Given the description of an element on the screen output the (x, y) to click on. 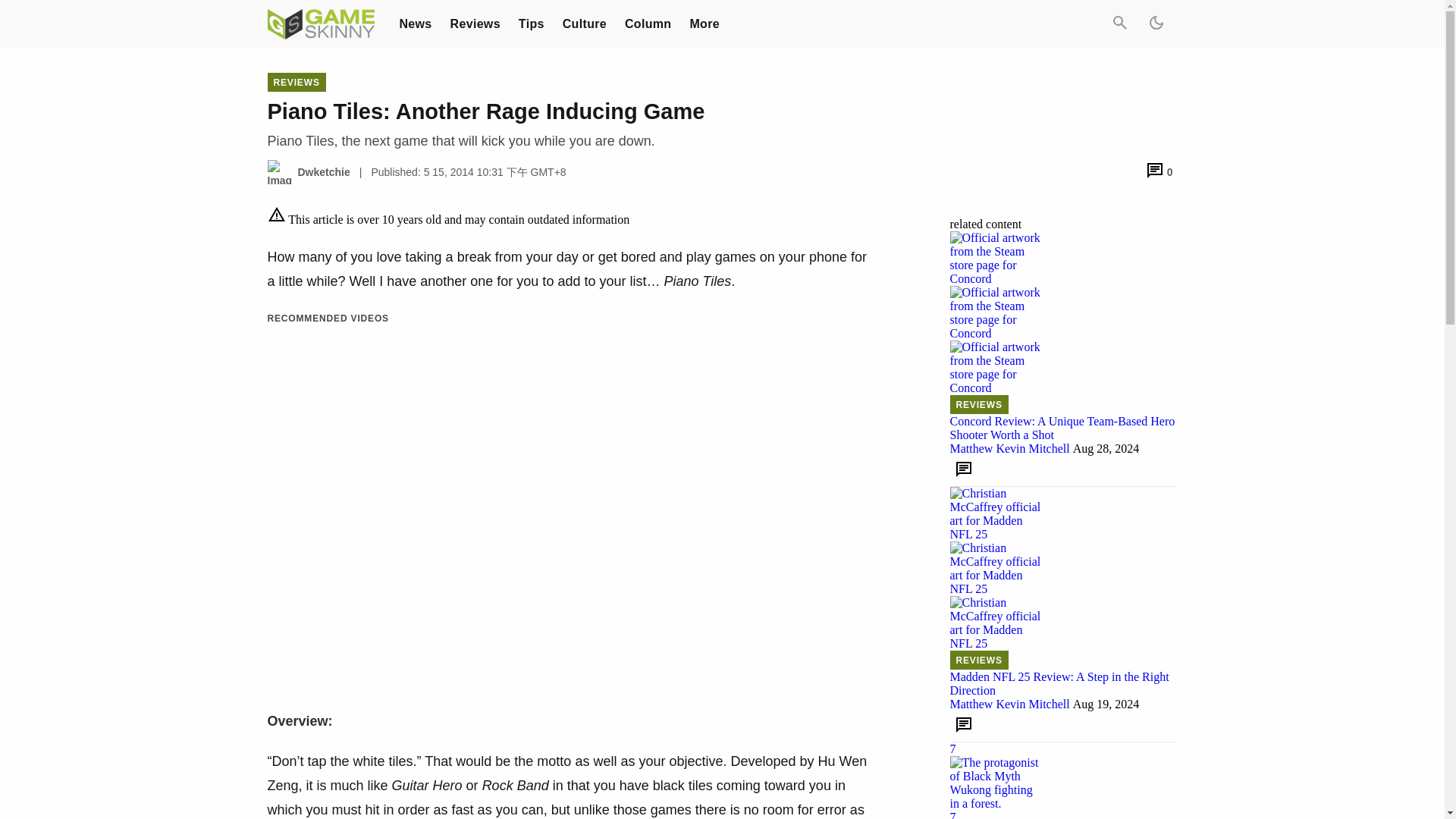
News (414, 23)
Dark Mode (1155, 23)
Column (647, 23)
Culture (584, 23)
Search (1118, 23)
Tips (531, 23)
Reviews (474, 23)
